Given the description of an element on the screen output the (x, y) to click on. 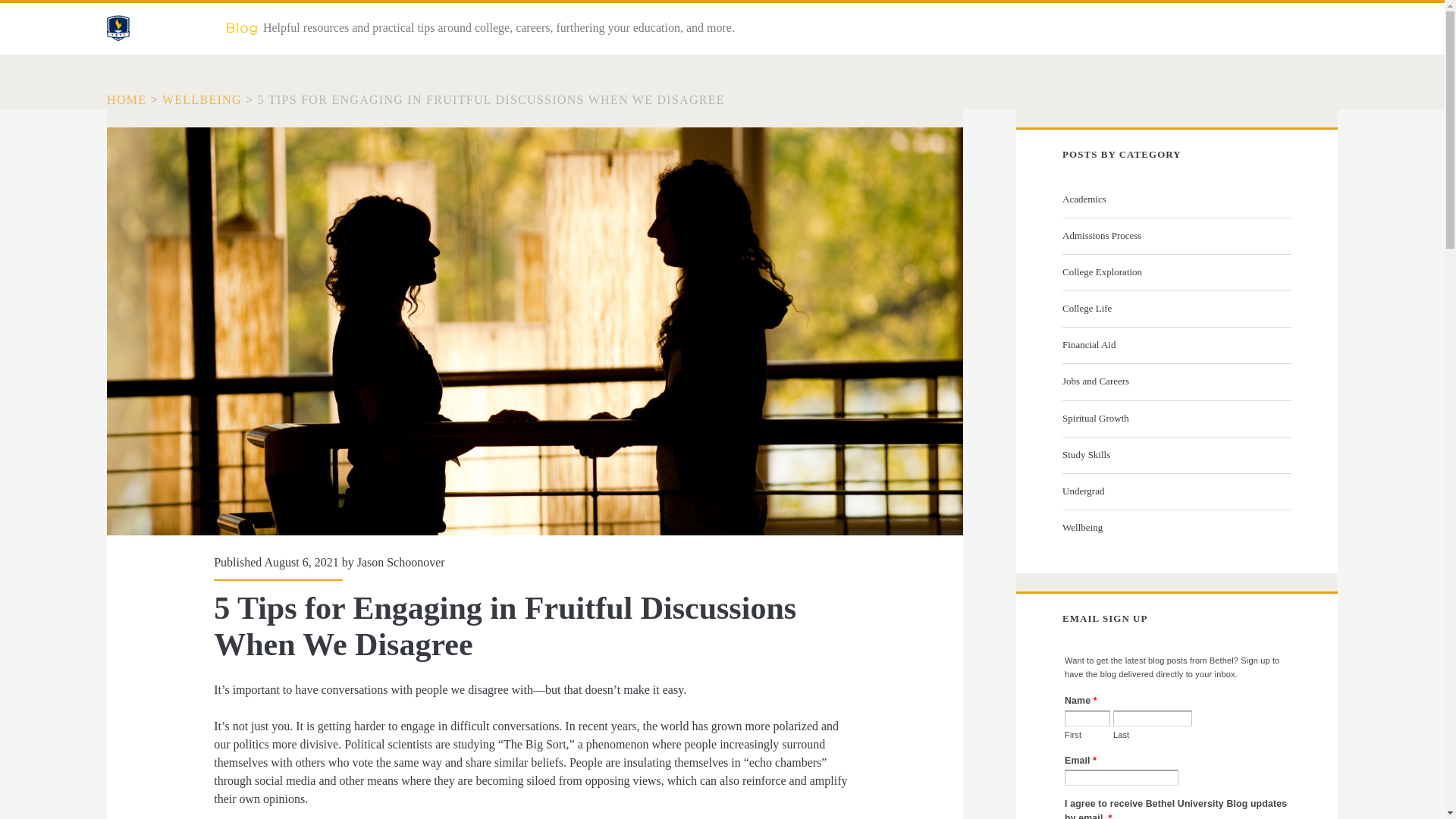
Undergrad (1174, 491)
WELLBEING (201, 99)
HOME (126, 99)
Home (126, 99)
Jobs and Careers (1174, 381)
Wellbeing (1174, 527)
Study Skills (1174, 454)
Spiritual Growth (1174, 418)
College Life (1174, 308)
Financial Aid (1174, 344)
Posts by Jason Schoonover (400, 562)
Admissions Process (1174, 235)
Academics (1174, 199)
Jason Schoonover (400, 562)
5 Tips for Engaging in Fruitful Discussions When We Disagree (491, 99)
